Given the description of an element on the screen output the (x, y) to click on. 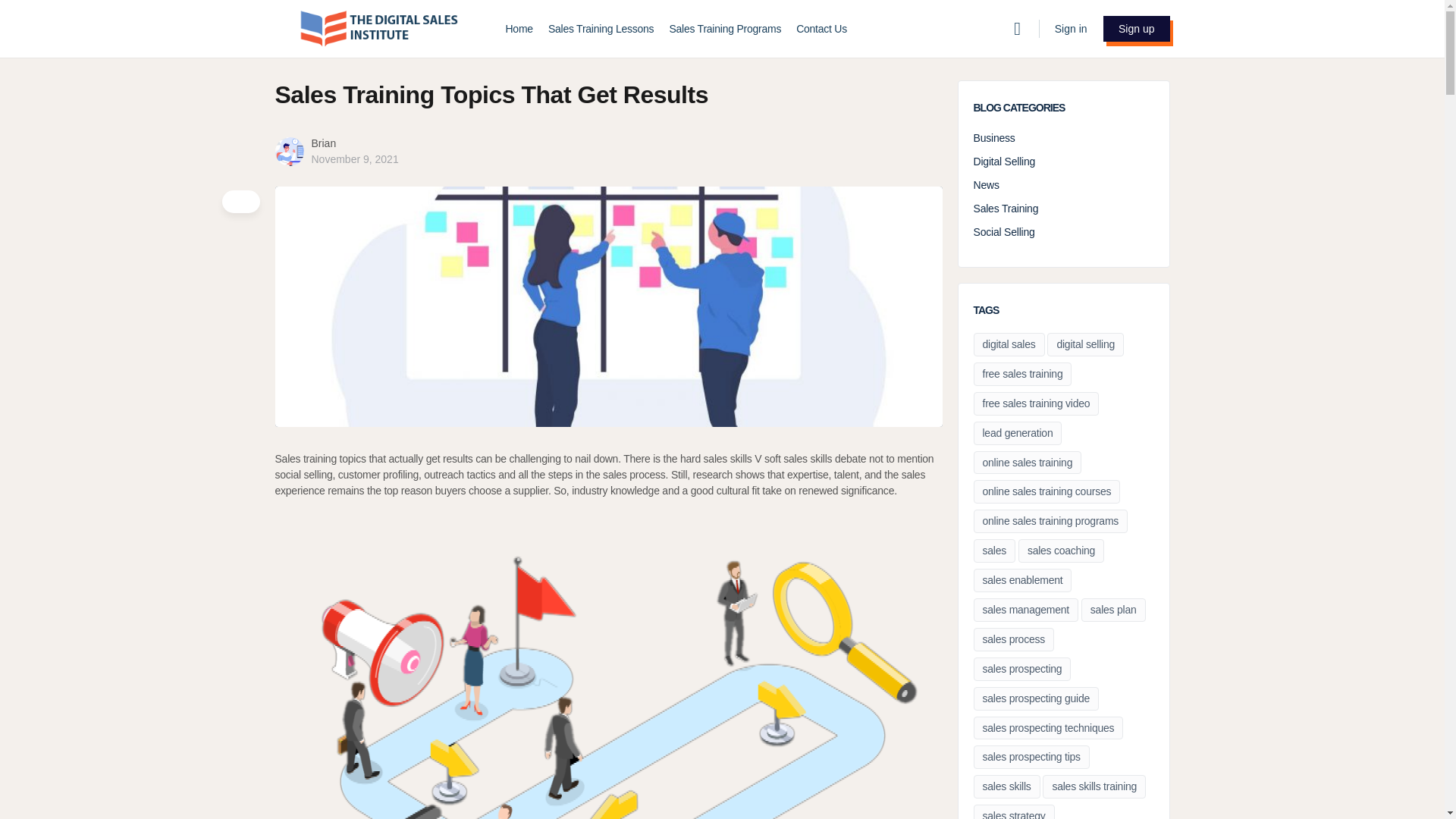
November 9, 2021 (354, 159)
Sign up (1136, 28)
Sales Training Programs (724, 28)
Sign in (1070, 28)
Brian (323, 143)
Sales Training Lessons (600, 28)
